Given the description of an element on the screen output the (x, y) to click on. 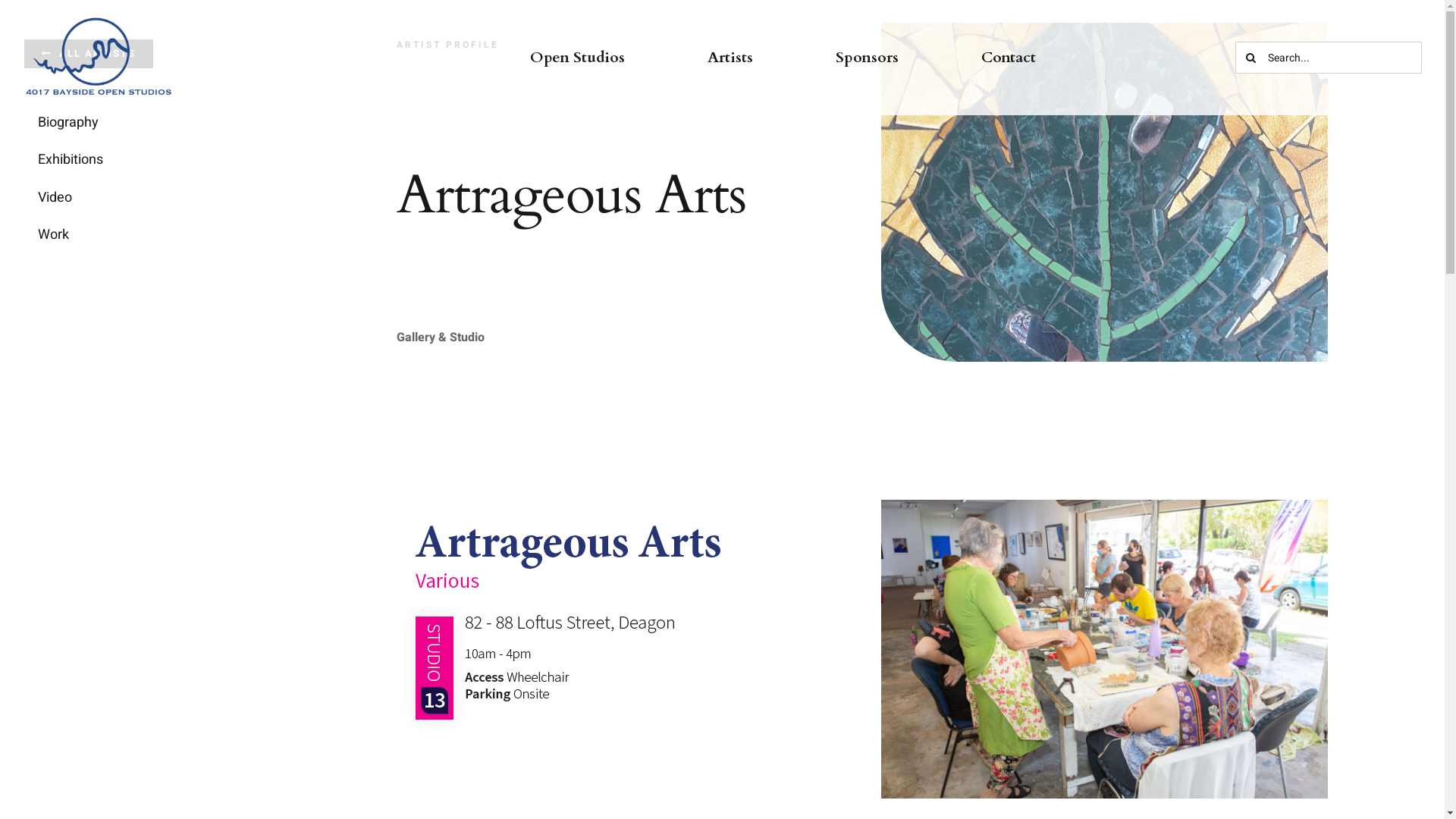
Contact Element type: text (1008, 57)
Artrageous Arts_Anne gadsby Element type: hover (1104, 648)
Video Element type: text (119, 197)
Biography Element type: text (119, 122)
Exhibitions Element type: text (119, 159)
Artists Element type: text (730, 57)
ALL ARTISTS Element type: text (88, 53)
Work Element type: text (119, 235)
Open Studios Element type: text (577, 57)
Sponsors Element type: text (866, 57)
